Given the description of an element on the screen output the (x, y) to click on. 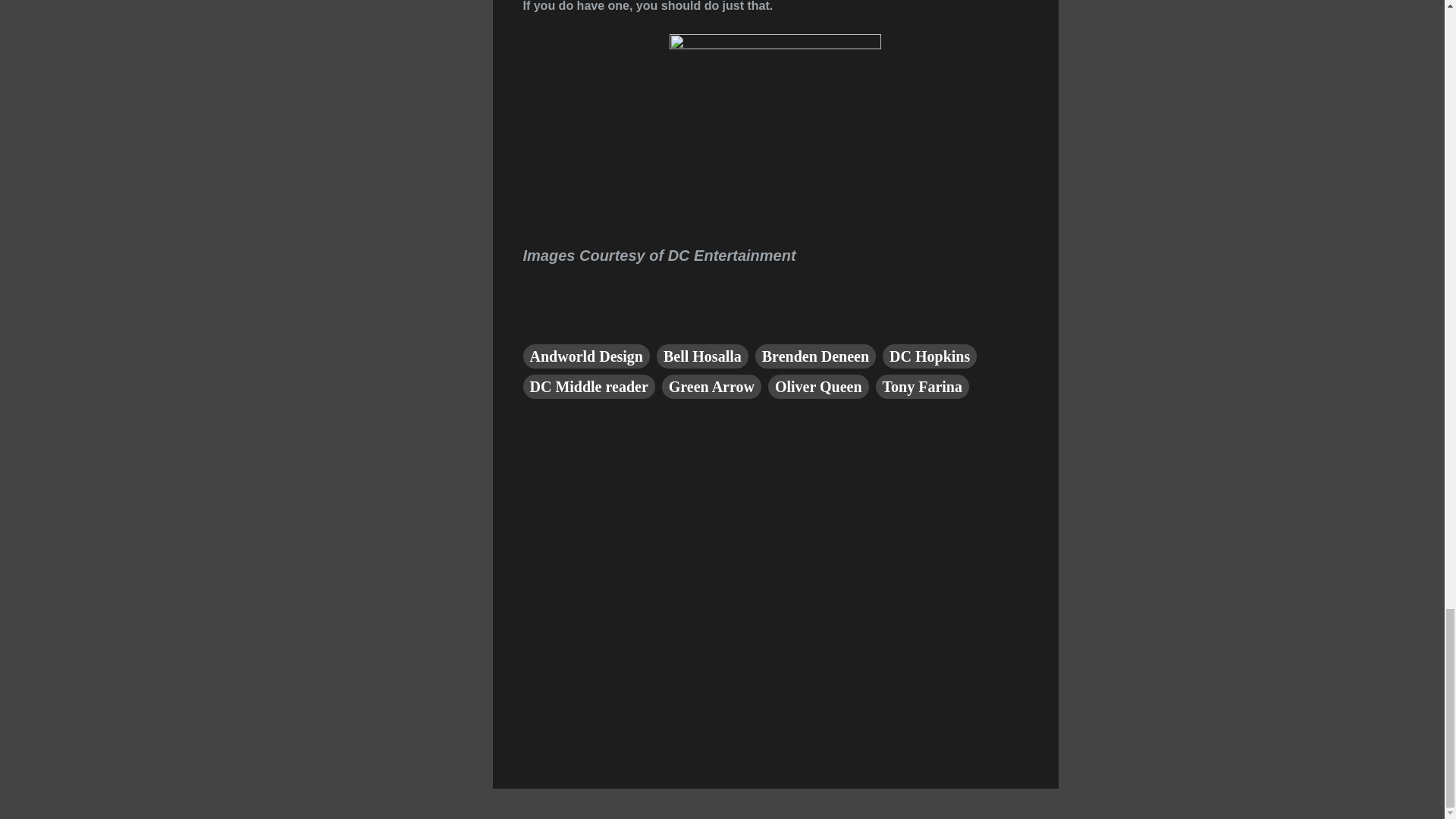
Green Arrow (711, 386)
Bell Hosalla (702, 355)
Andworld Design (585, 355)
Tony Farina (922, 386)
Brenden Deneen (815, 355)
DC Hopkins (929, 355)
Oliver Queen (818, 386)
DC Middle reader (588, 386)
